Given the description of an element on the screen output the (x, y) to click on. 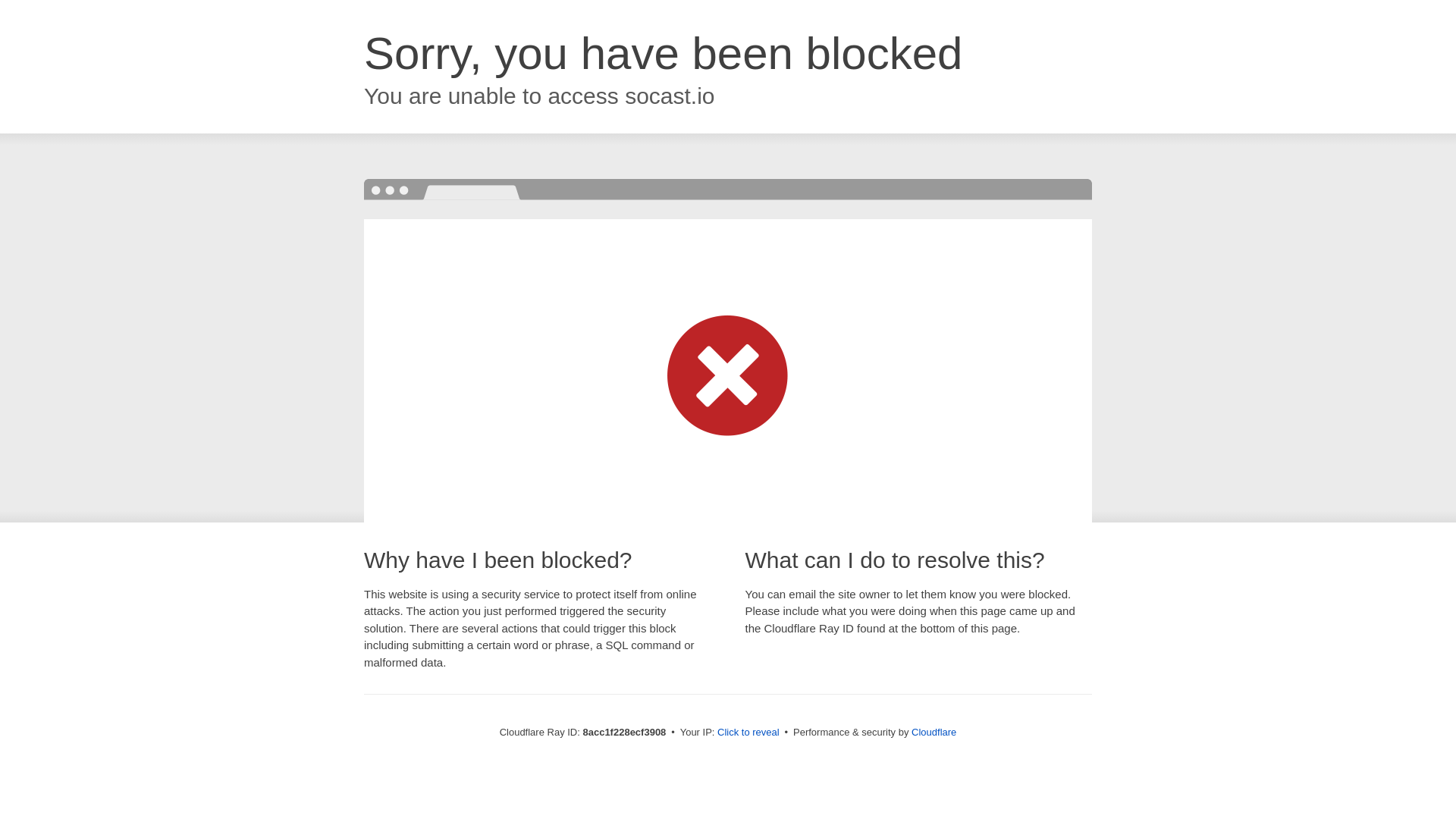
Cloudflare (933, 731)
Click to reveal (747, 732)
